Given the description of an element on the screen output the (x, y) to click on. 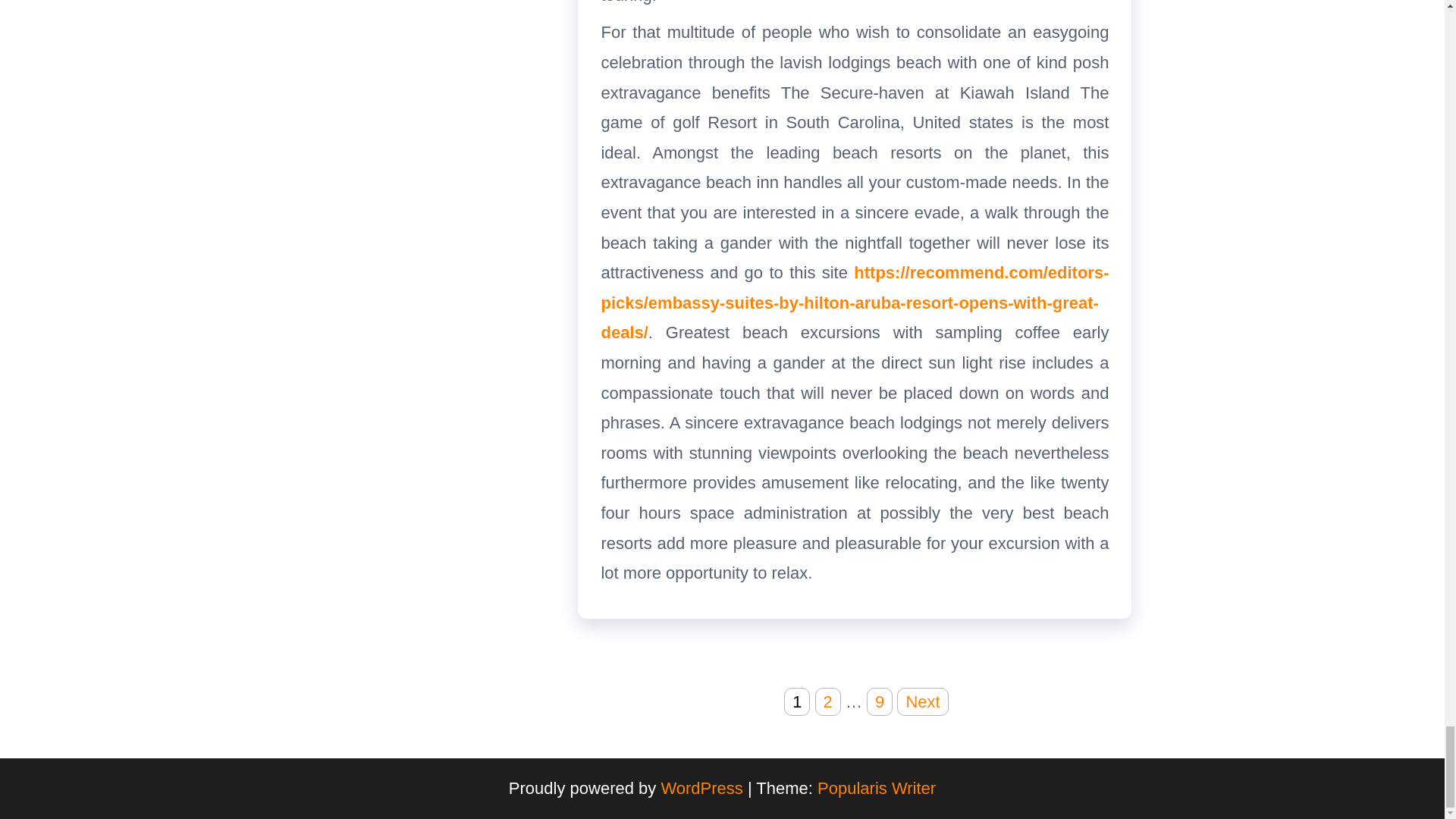
2 (828, 701)
Next (921, 701)
9 (879, 701)
